Given the description of an element on the screen output the (x, y) to click on. 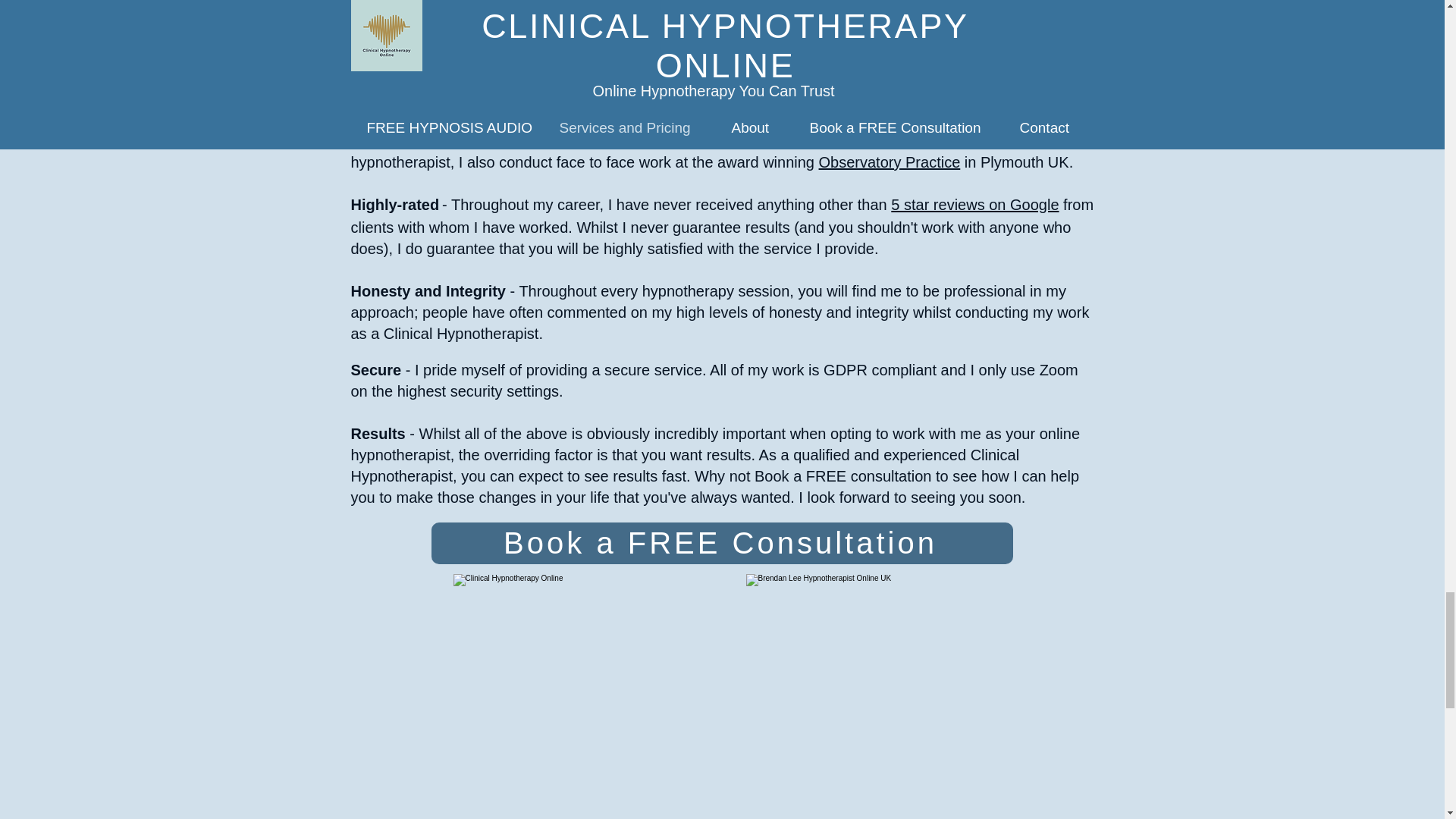
5 star reviews on Google (974, 204)
Book a FREE Consultation (720, 543)
Observatory Practice (889, 161)
